Given the description of an element on the screen output the (x, y) to click on. 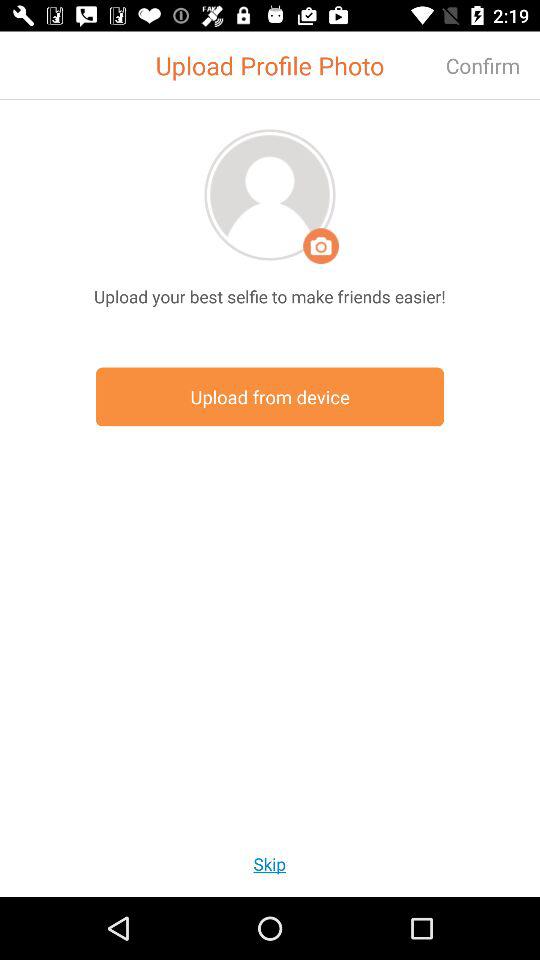
select item above the upload from device item (269, 296)
